Given the description of an element on the screen output the (x, y) to click on. 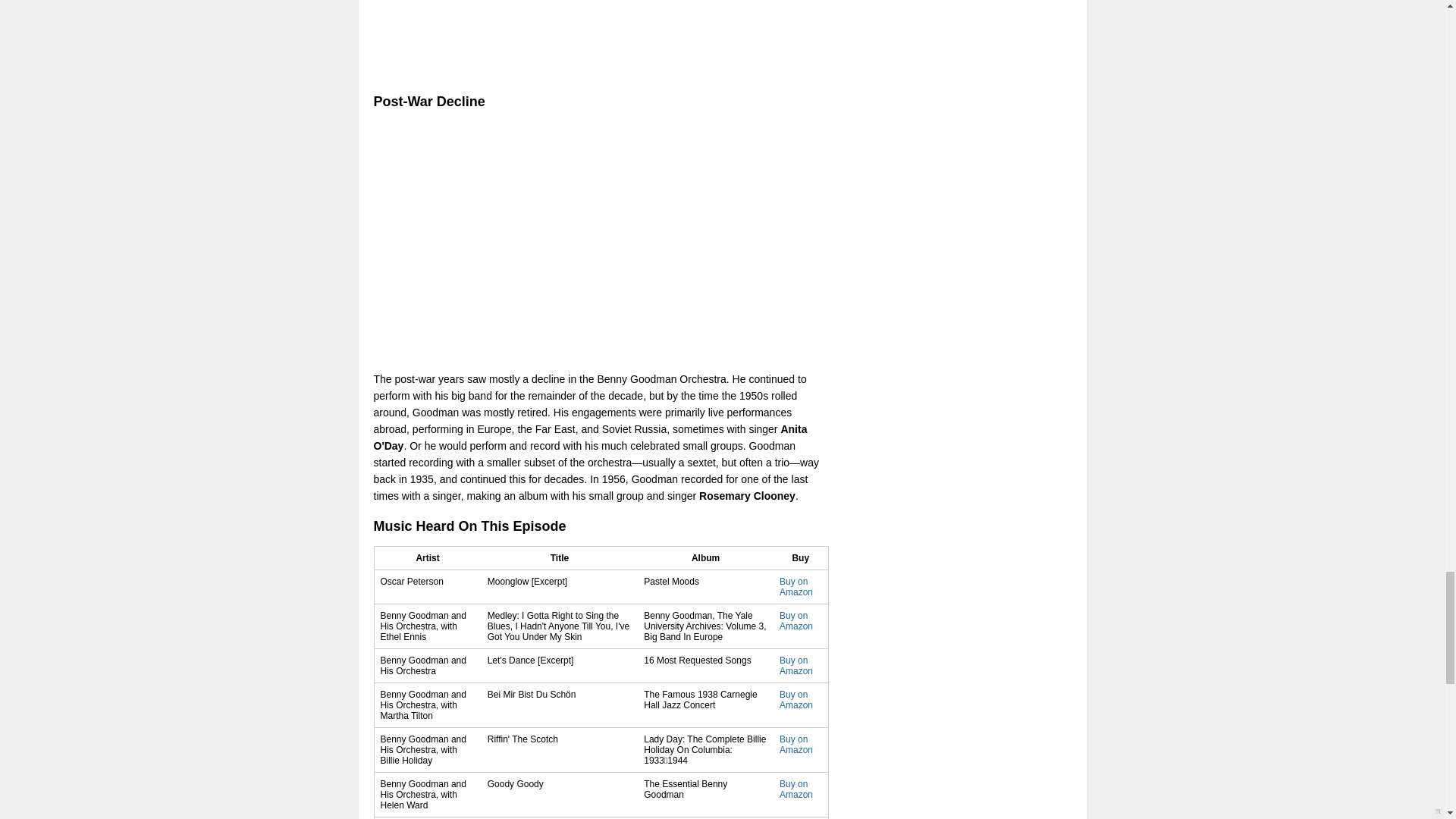
YouTube video player (584, 240)
YouTube video player (584, 26)
